Given the description of an element on the screen output the (x, y) to click on. 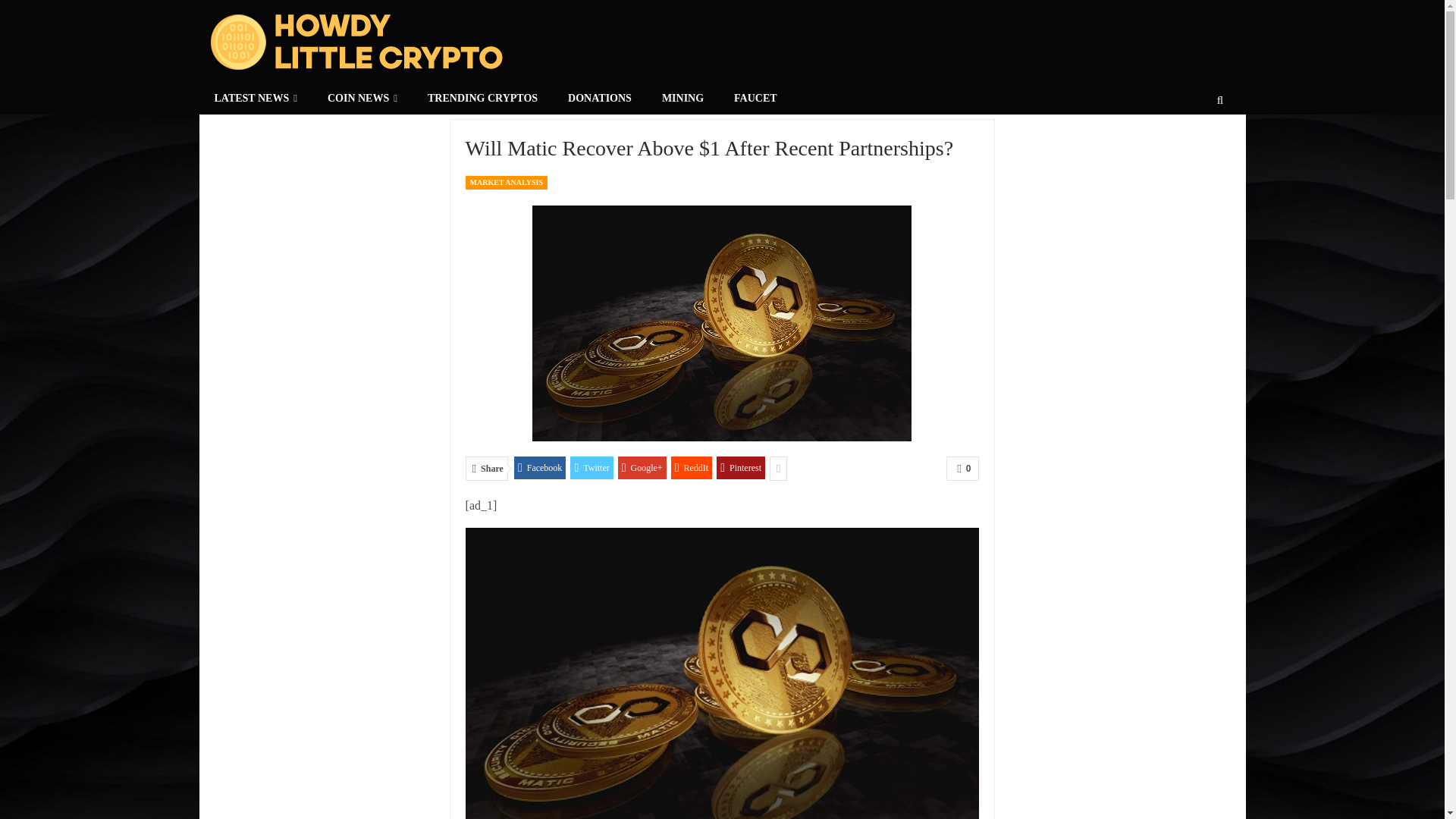
LATEST NEWS (254, 98)
COIN NEWS (362, 98)
